Given the description of an element on the screen output the (x, y) to click on. 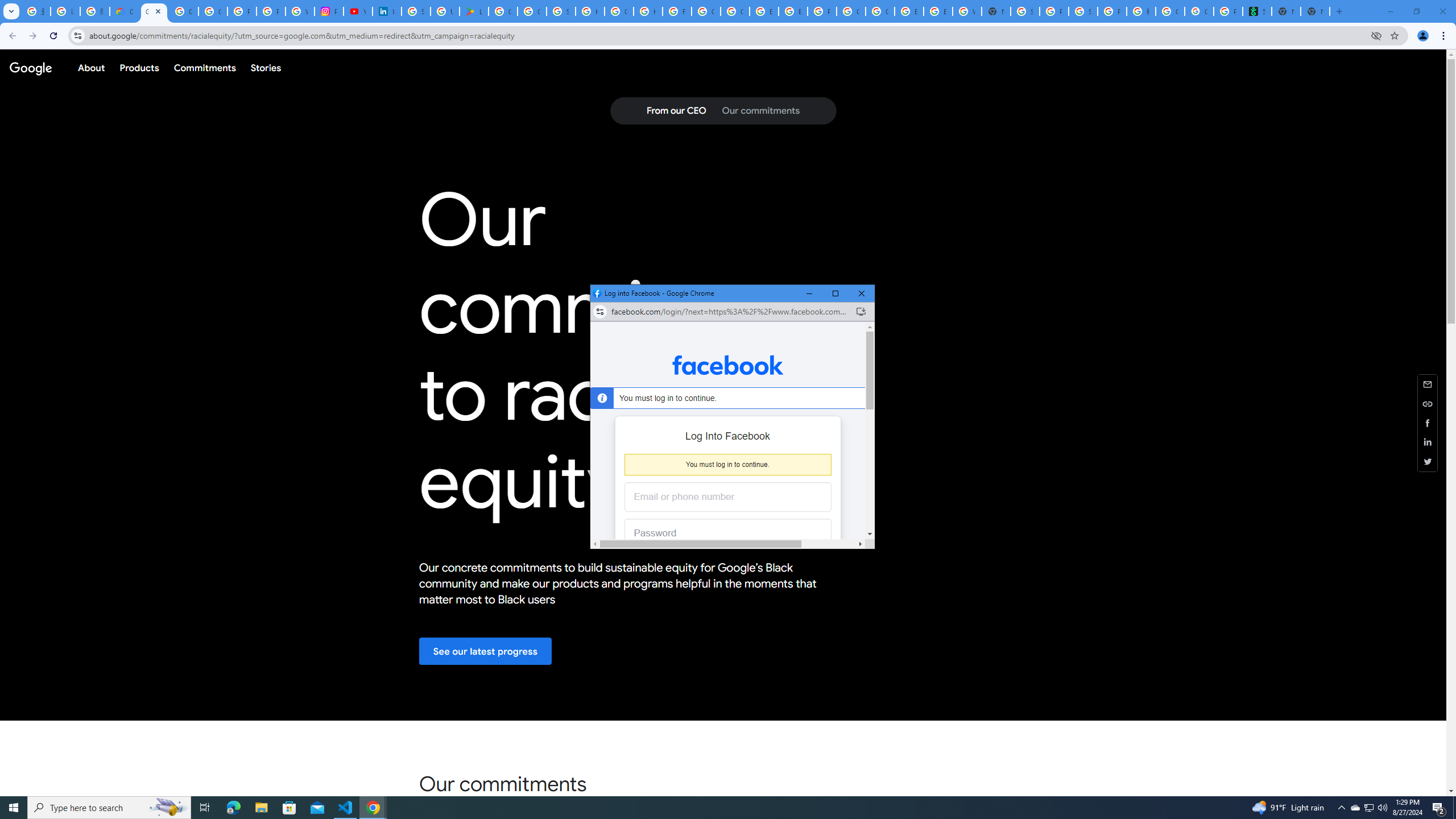
New Tab (1315, 11)
YouTube Culture & Trends - On The Rise: Handcam Videos (357, 11)
Notification Chevron (1341, 807)
Our commitments: Jump to page section (760, 110)
Install Facebook (860, 311)
Sign in - Google Accounts (415, 11)
